Given the description of an element on the screen output the (x, y) to click on. 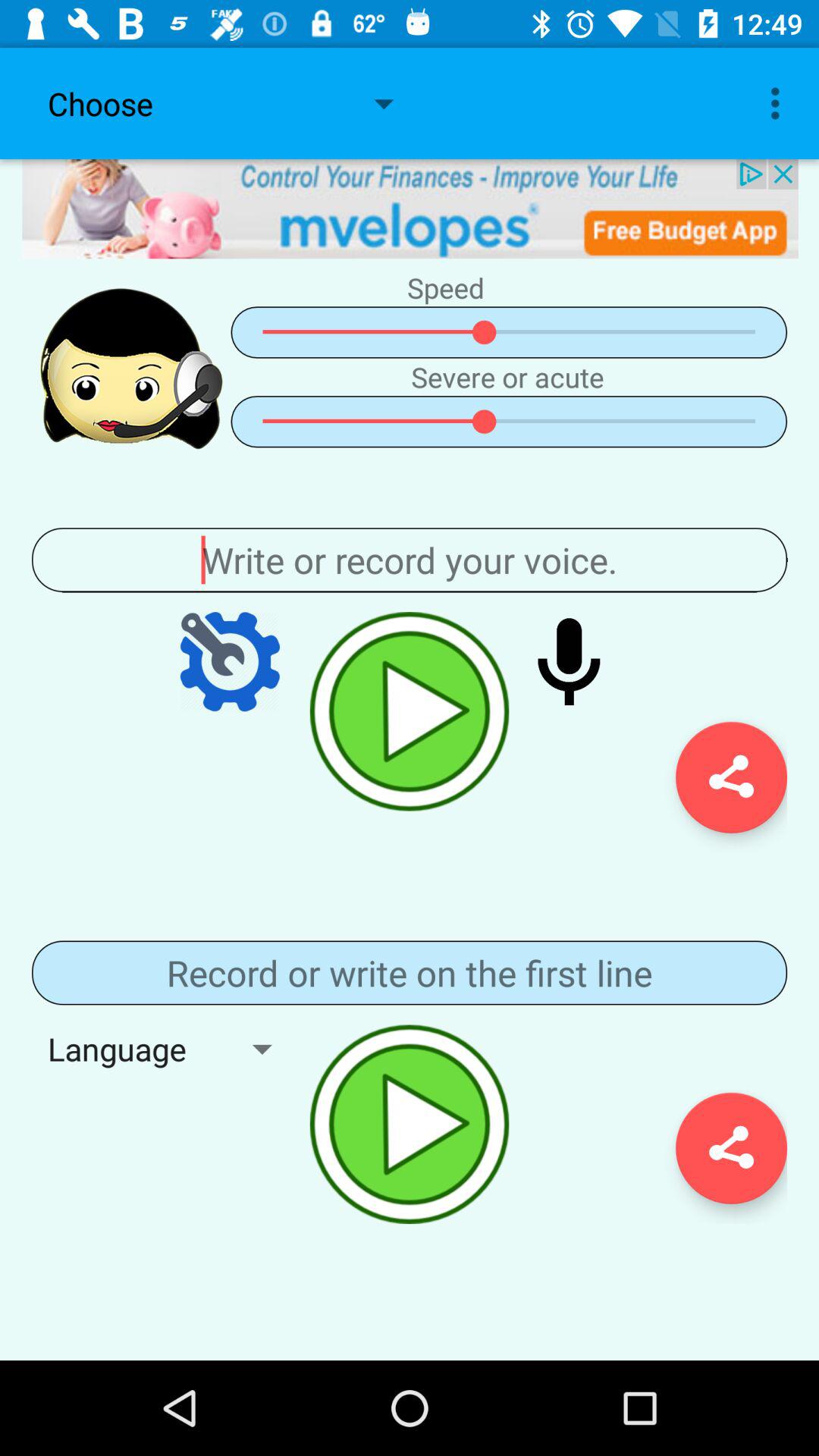
play (409, 1123)
